Given the description of an element on the screen output the (x, y) to click on. 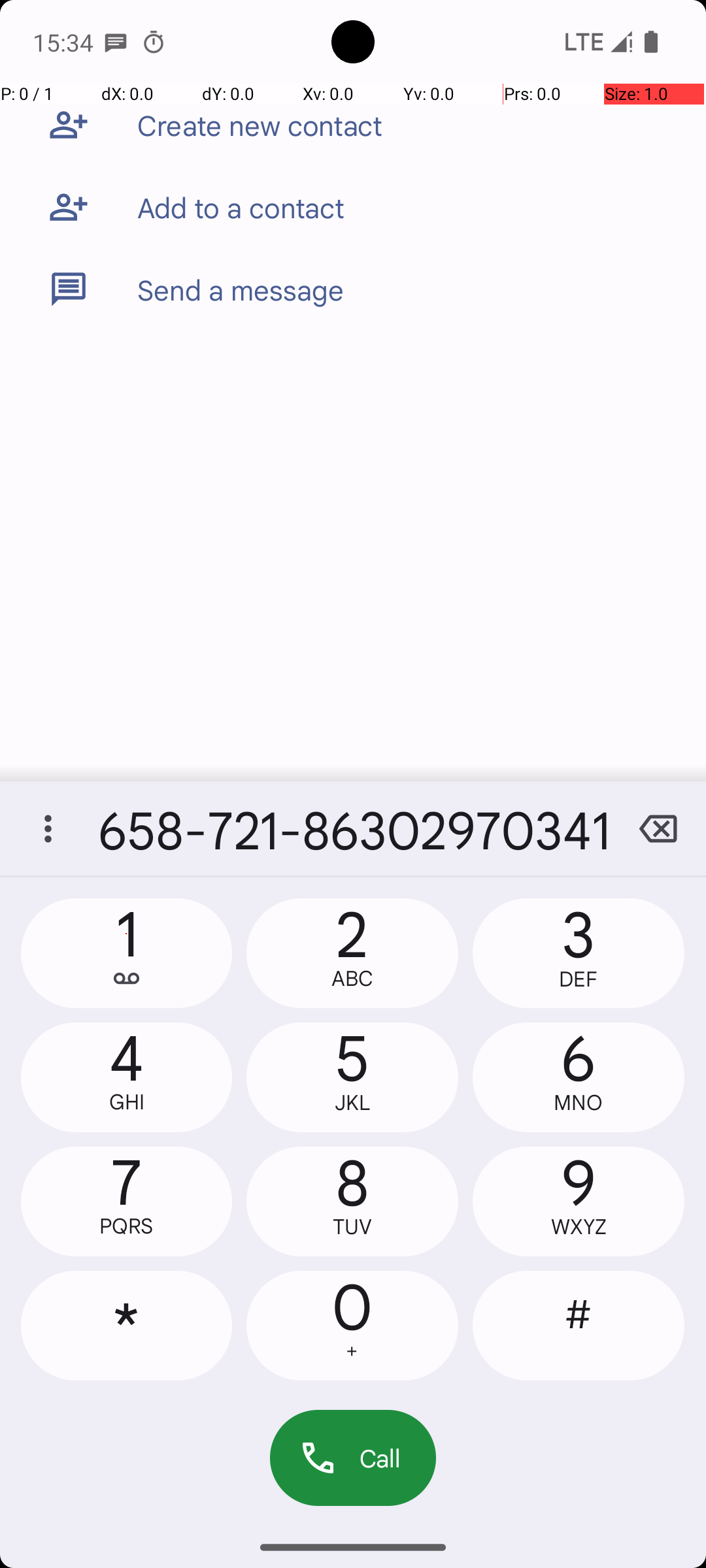
+1 658-721-86302970341 Element type: android.widget.EditText (352, 828)
